Given the description of an element on the screen output the (x, y) to click on. 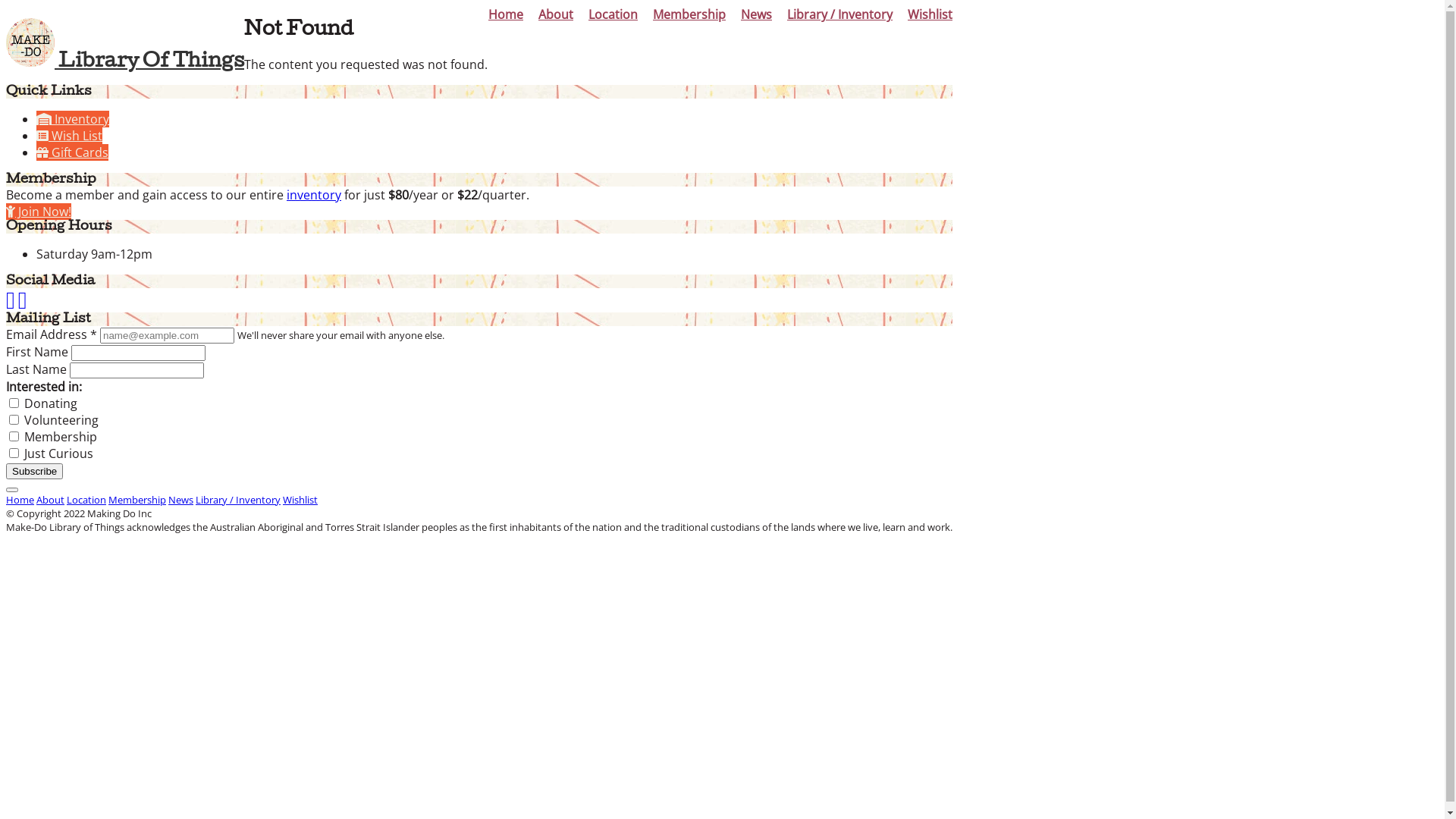
Library Of Things Element type: text (125, 62)
Home Element type: text (505, 15)
Location Element type: text (612, 15)
Inventory Element type: text (72, 118)
Membership Element type: text (137, 499)
Library / Inventory Element type: text (237, 499)
inventory Element type: text (313, 194)
Facebook Element type: hover (10, 303)
News Element type: text (180, 499)
About Element type: text (50, 499)
Wishlist Element type: text (299, 499)
Subscribe Element type: text (34, 471)
Wishlist Element type: text (929, 15)
Membership Element type: text (688, 15)
About Element type: text (555, 15)
Library / Inventory Element type: text (839, 15)
Gift Cards Element type: text (72, 152)
Join Now! Element type: text (38, 211)
News Element type: text (755, 15)
Instagram Element type: hover (22, 303)
Wish List Element type: text (69, 135)
Location Element type: text (86, 499)
Home Element type: text (20, 499)
